Given the description of an element on the screen output the (x, y) to click on. 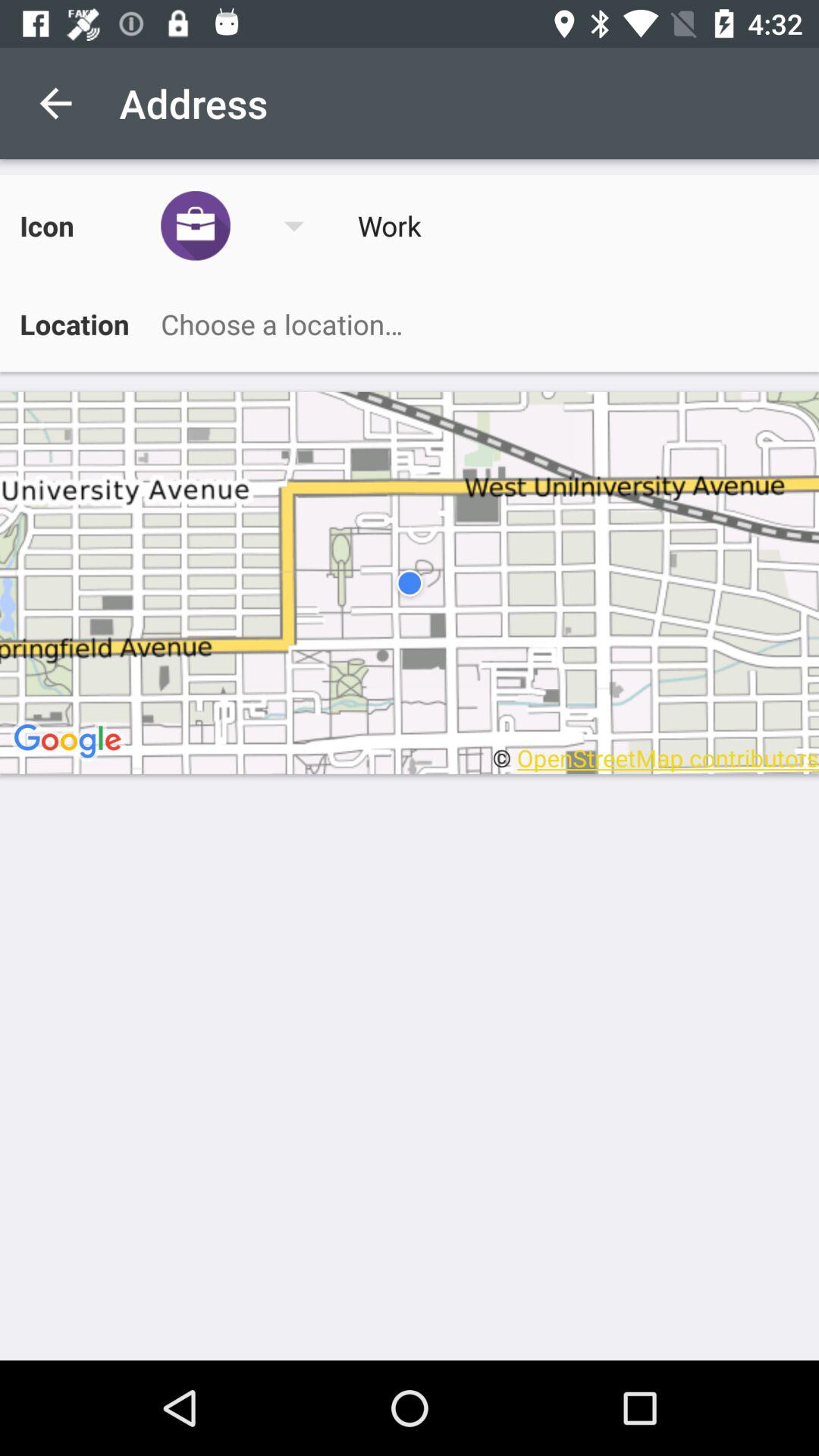
go to search (472, 323)
